Given the description of an element on the screen output the (x, y) to click on. 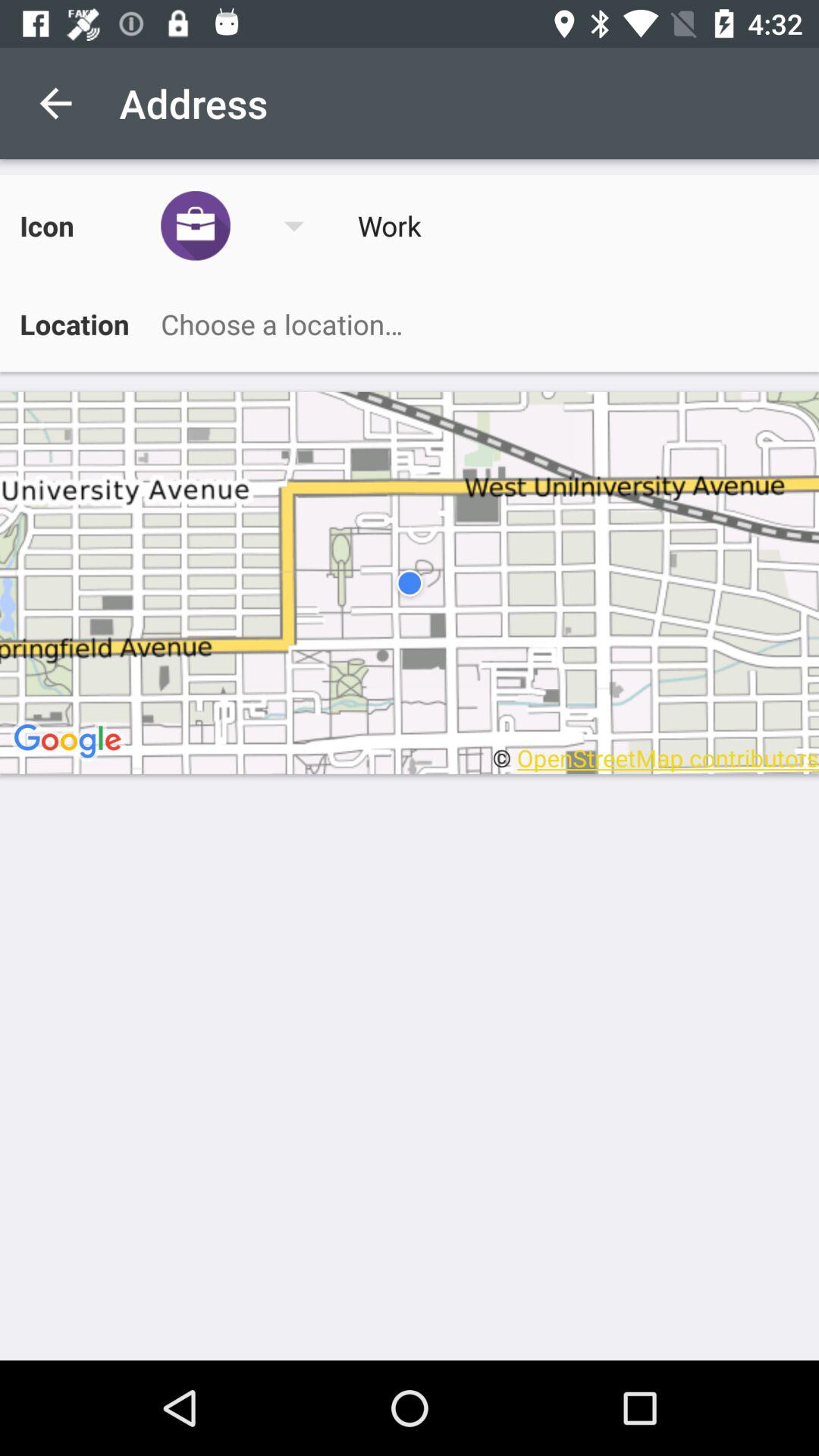
go to search (472, 323)
